Given the description of an element on the screen output the (x, y) to click on. 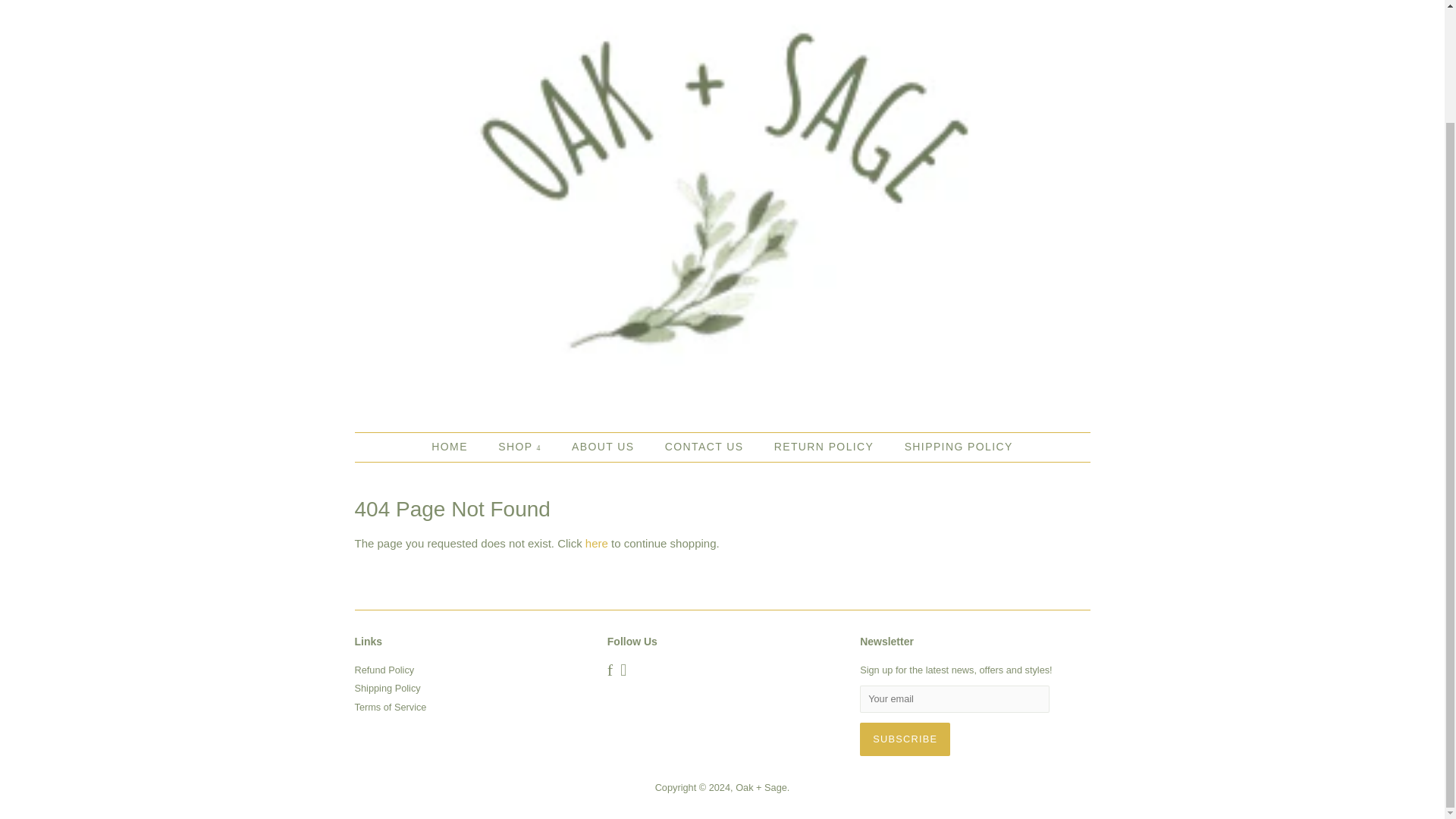
HOME (456, 447)
SHOP (521, 447)
Subscribe (905, 738)
